Given the description of an element on the screen output the (x, y) to click on. 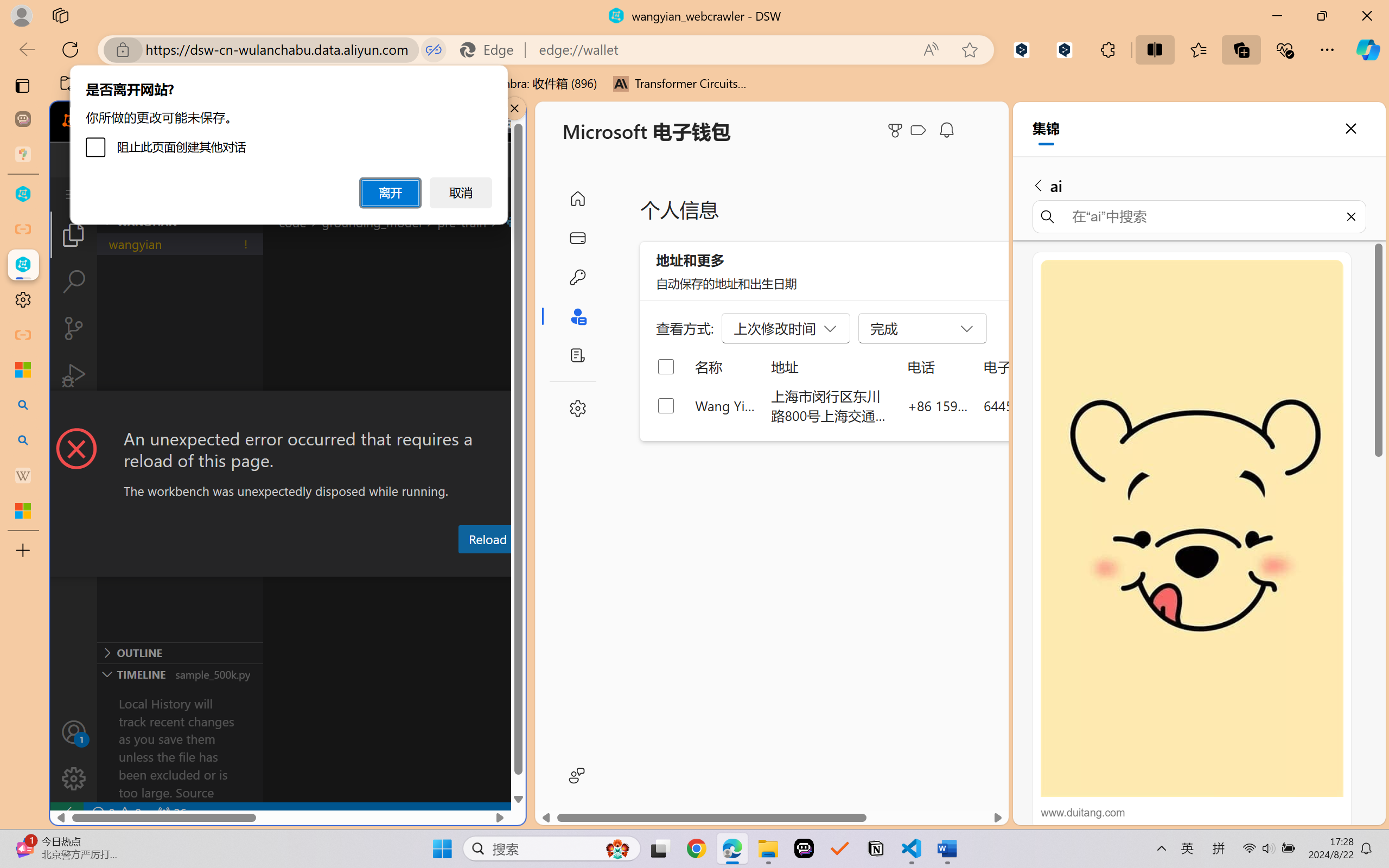
Output (Ctrl+Shift+U) (377, 565)
Debug Console (Ctrl+Shift+Y) (463, 565)
Reload (486, 538)
Microsoft Rewards (896, 129)
